Given the description of an element on the screen output the (x, y) to click on. 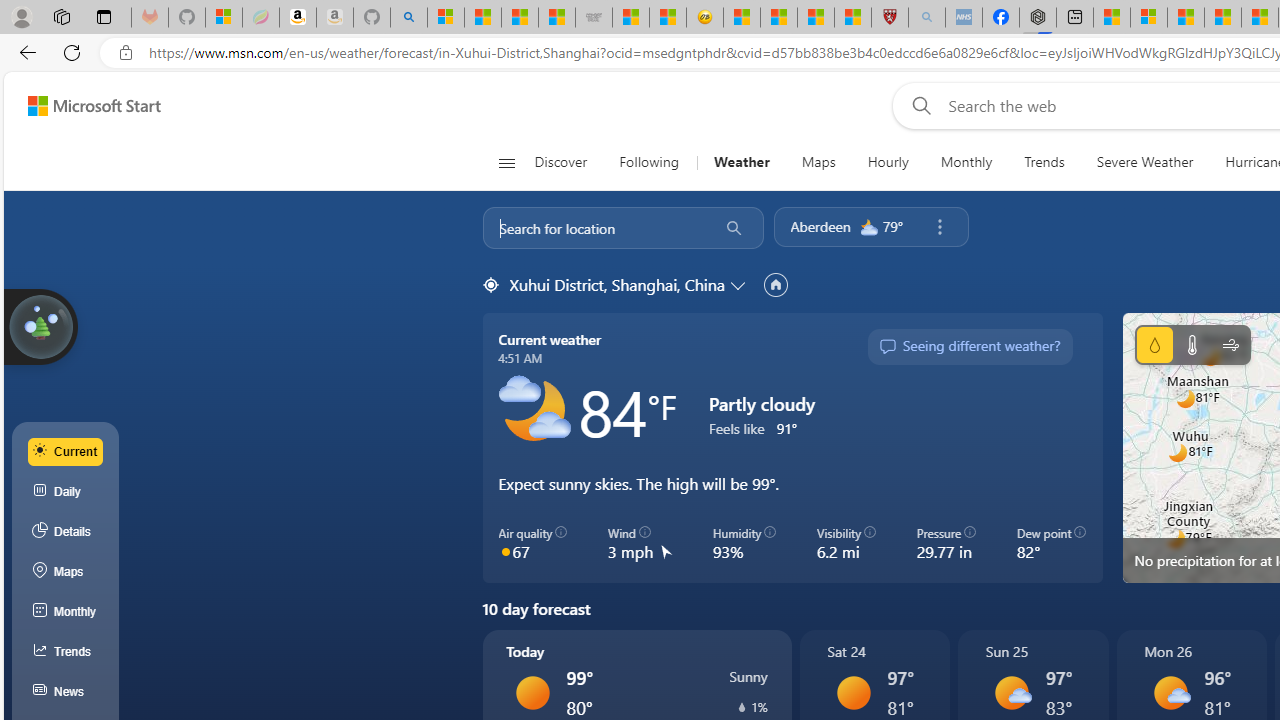
Science - MSN (815, 17)
Current (65, 451)
list of asthma inhalers uk - Search - Sleeping (926, 17)
Search for location (594, 227)
Sunny (853, 692)
Join us in planting real trees to help our planet! (40, 327)
Change location (739, 285)
Class: button-glyph (505, 162)
Wind (1230, 344)
Hourly (887, 162)
Pressure 29.77 in (946, 543)
NCL Adult Asthma Inhaler Choice Guideline - Sleeping (963, 17)
